Given the description of an element on the screen output the (x, y) to click on. 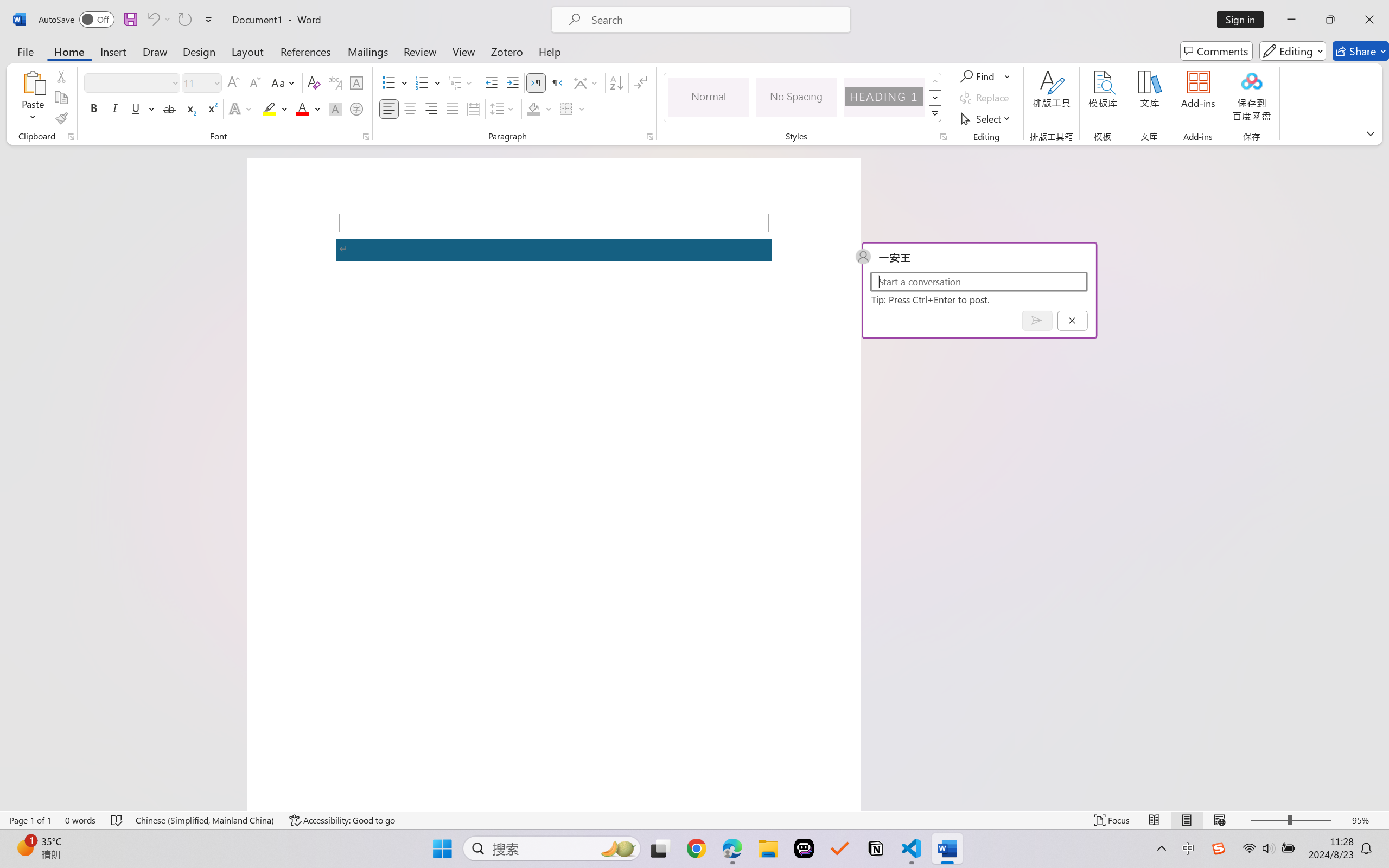
Shading No Color (533, 108)
